Given the description of an element on the screen output the (x, y) to click on. 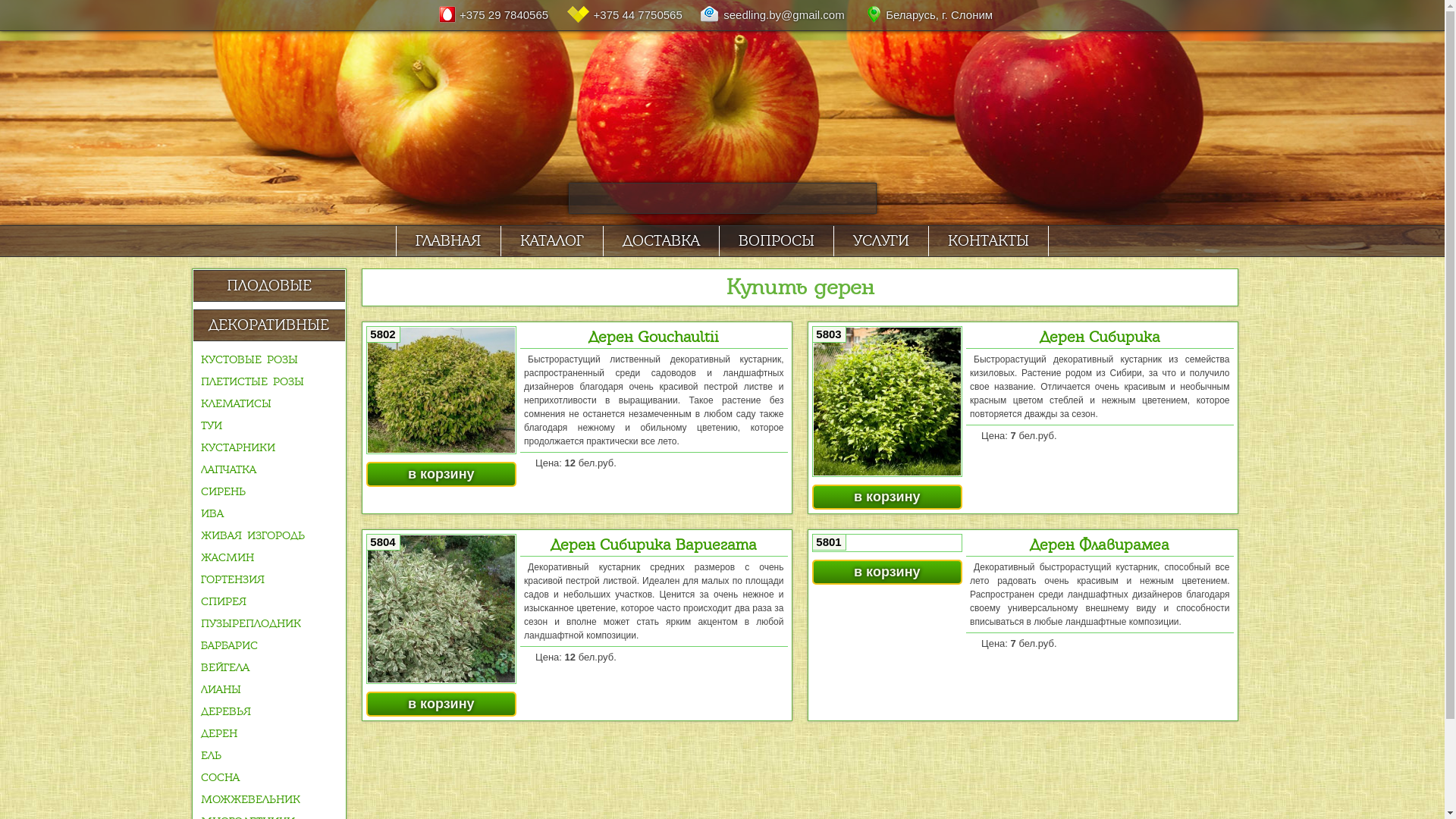
5802 Element type: text (440, 390)
5803 Element type: text (886, 401)
5804 Element type: text (440, 608)
+375 29 7840565 Element type: text (499, 14)
+375 44 7750565 Element type: text (632, 14)
5801 Element type: text (886, 542)
